Given the description of an element on the screen output the (x, y) to click on. 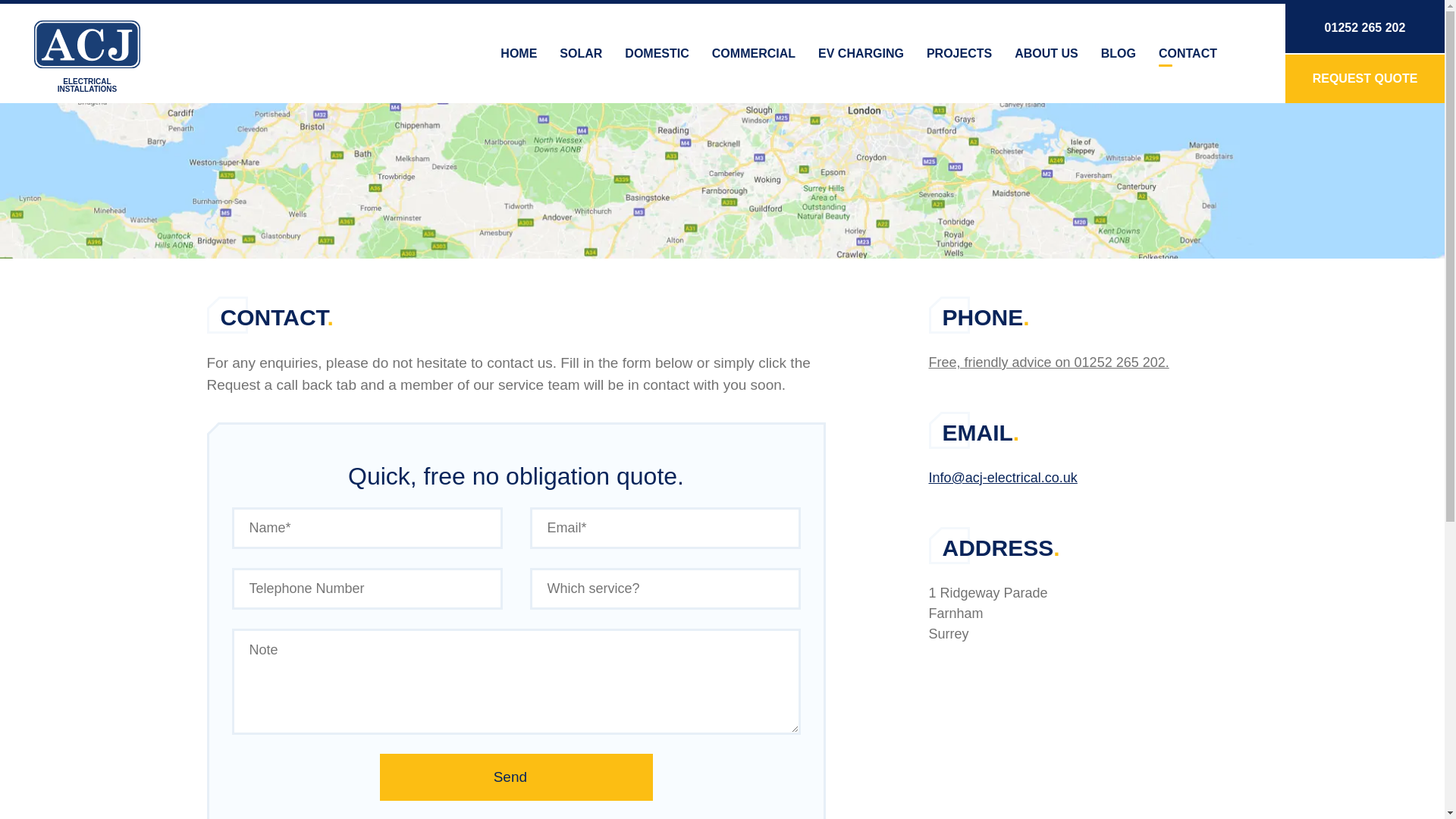
PROJECTS (959, 53)
DOMESTIC (656, 53)
Send (515, 776)
HOME (518, 53)
EV CHARGING (860, 53)
ELECTRICAL INSTALLATIONS (86, 56)
BLOG (1118, 53)
COMMERCIAL (753, 53)
SOLAR (580, 53)
ABOUT US (1046, 53)
